Given the description of an element on the screen output the (x, y) to click on. 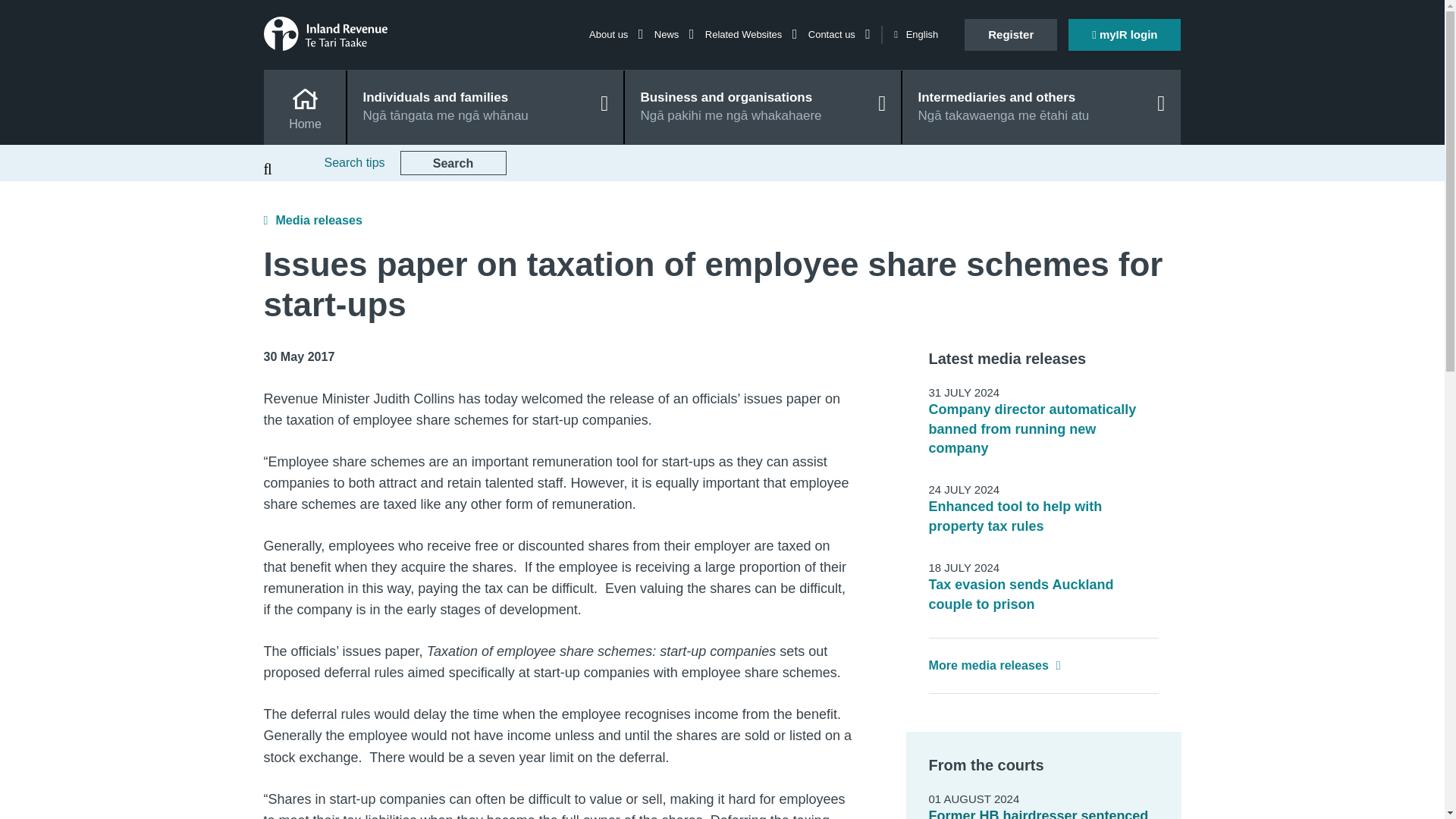
English (914, 34)
About us (616, 34)
News (673, 34)
myIR login (1124, 34)
Related Websites (750, 34)
Register (1010, 34)
Contact us (839, 34)
